Given the description of an element on the screen output the (x, y) to click on. 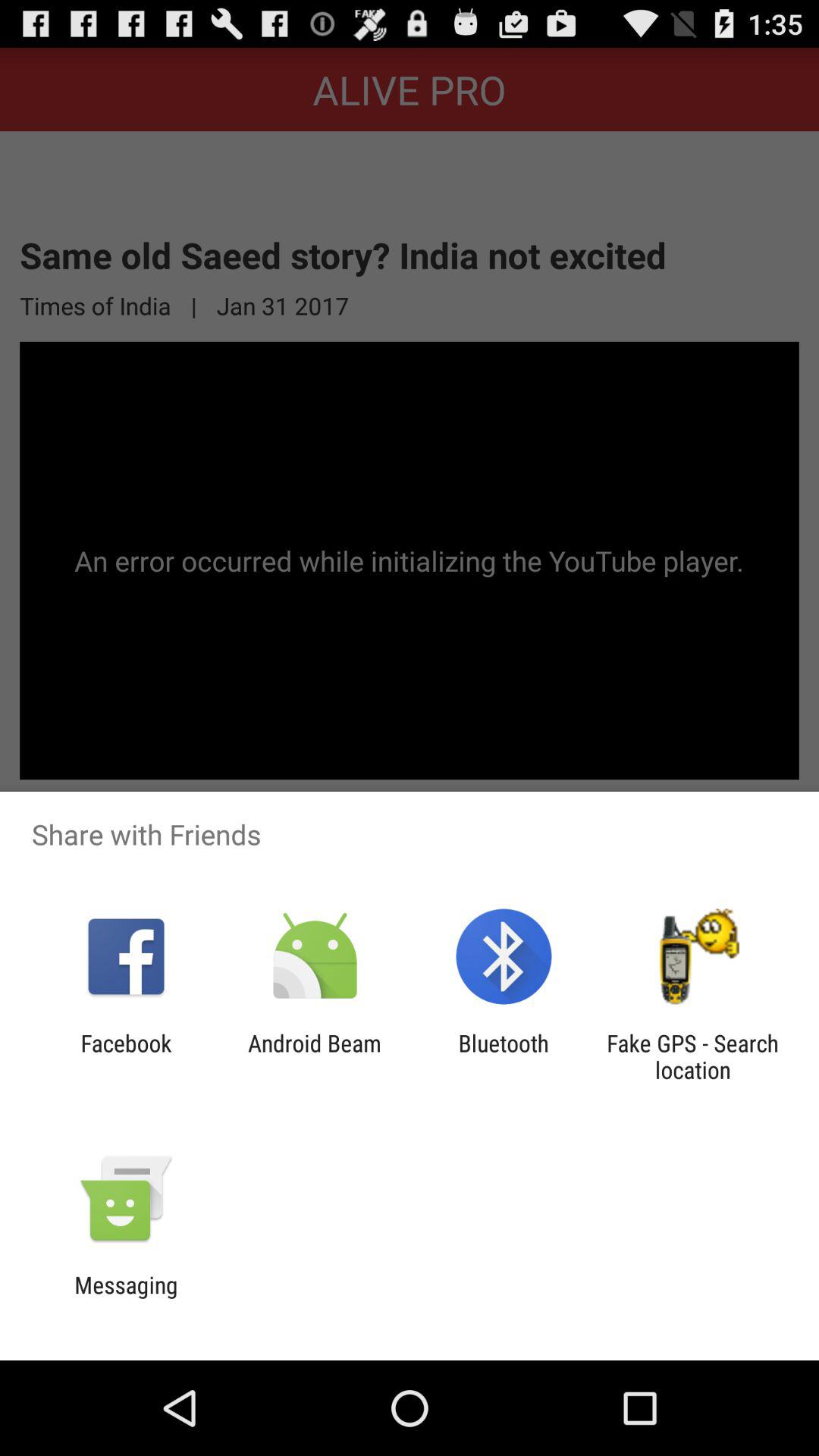
turn on the app to the right of android beam icon (503, 1056)
